Given the description of an element on the screen output the (x, y) to click on. 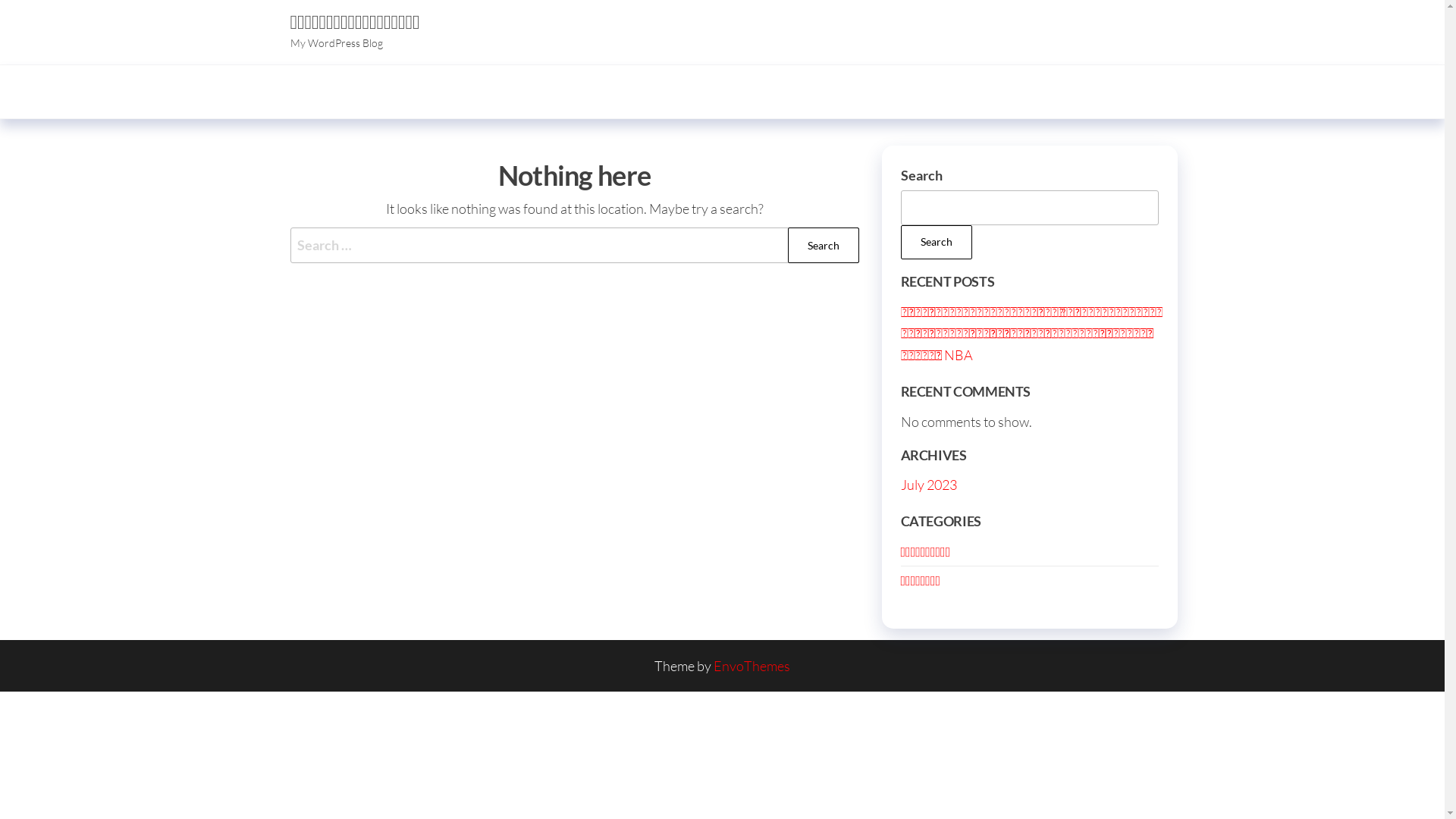
Search Element type: text (936, 241)
EnvoThemes Element type: text (751, 665)
July 2023 Element type: text (928, 484)
Search Element type: text (822, 245)
